Given the description of an element on the screen output the (x, y) to click on. 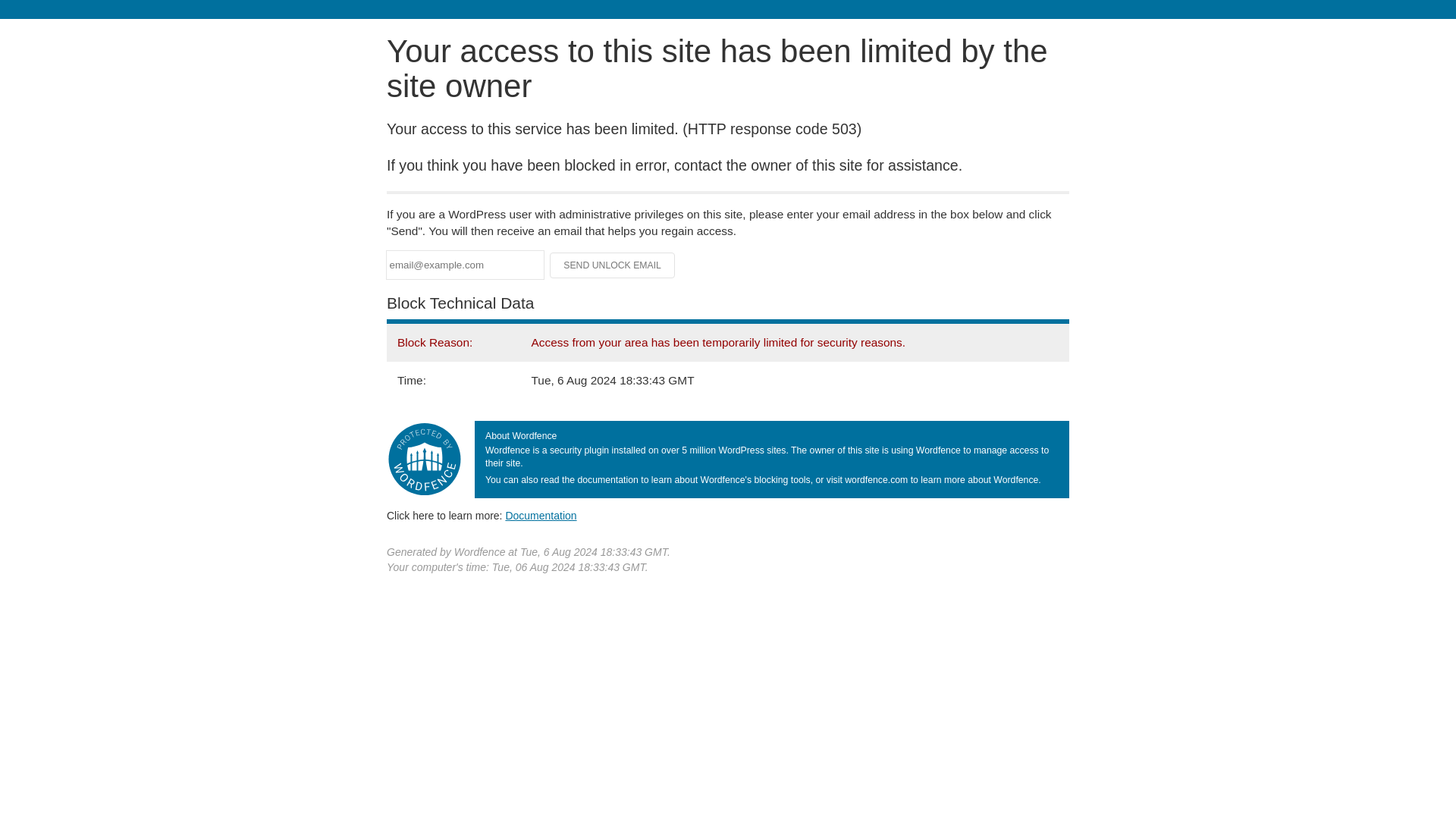
Send Unlock Email (612, 265)
Send Unlock Email (612, 265)
Documentation (540, 515)
